Given the description of an element on the screen output the (x, y) to click on. 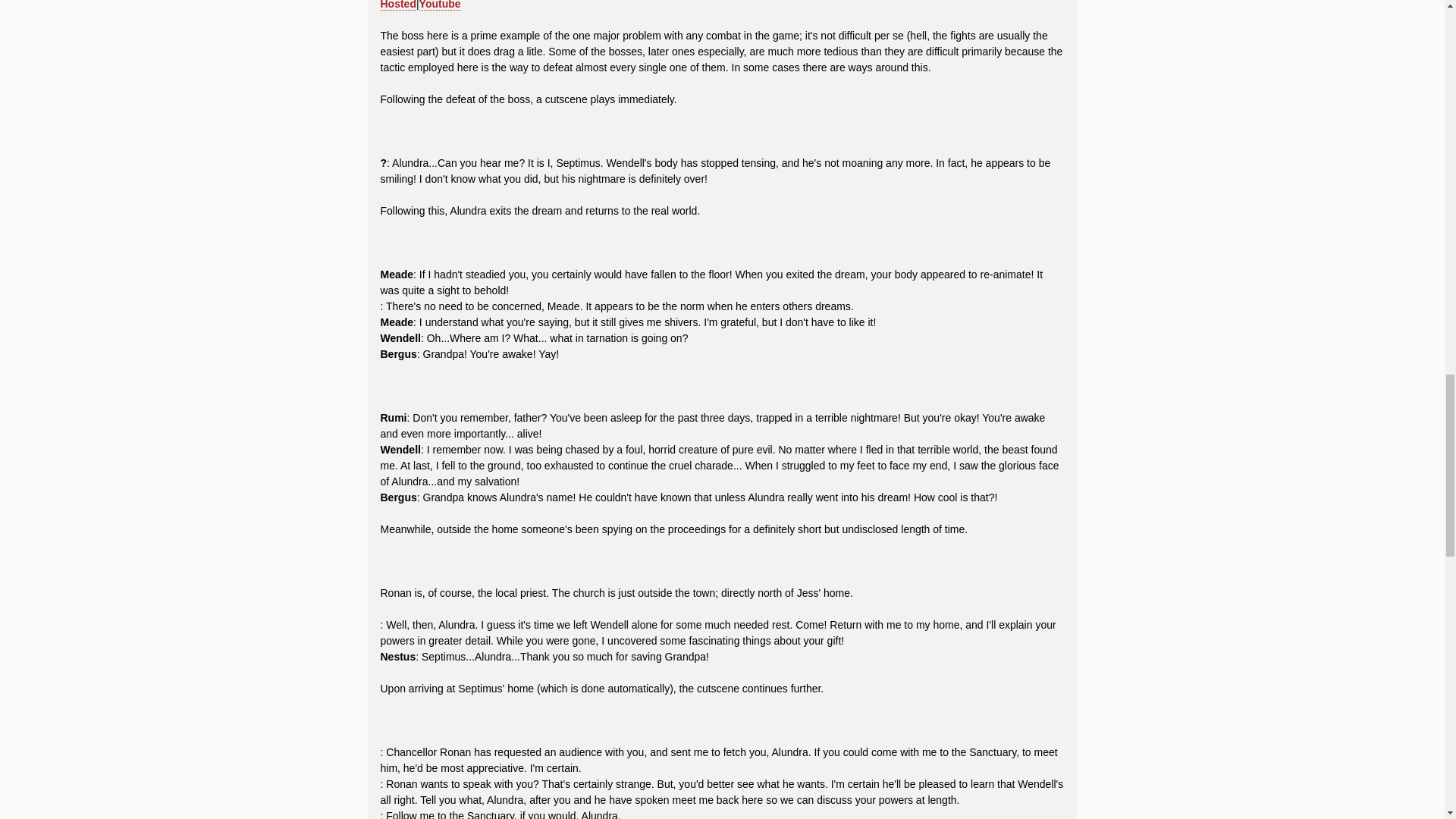
Hosted (398, 5)
Youtube (440, 5)
